Given the description of an element on the screen output the (x, y) to click on. 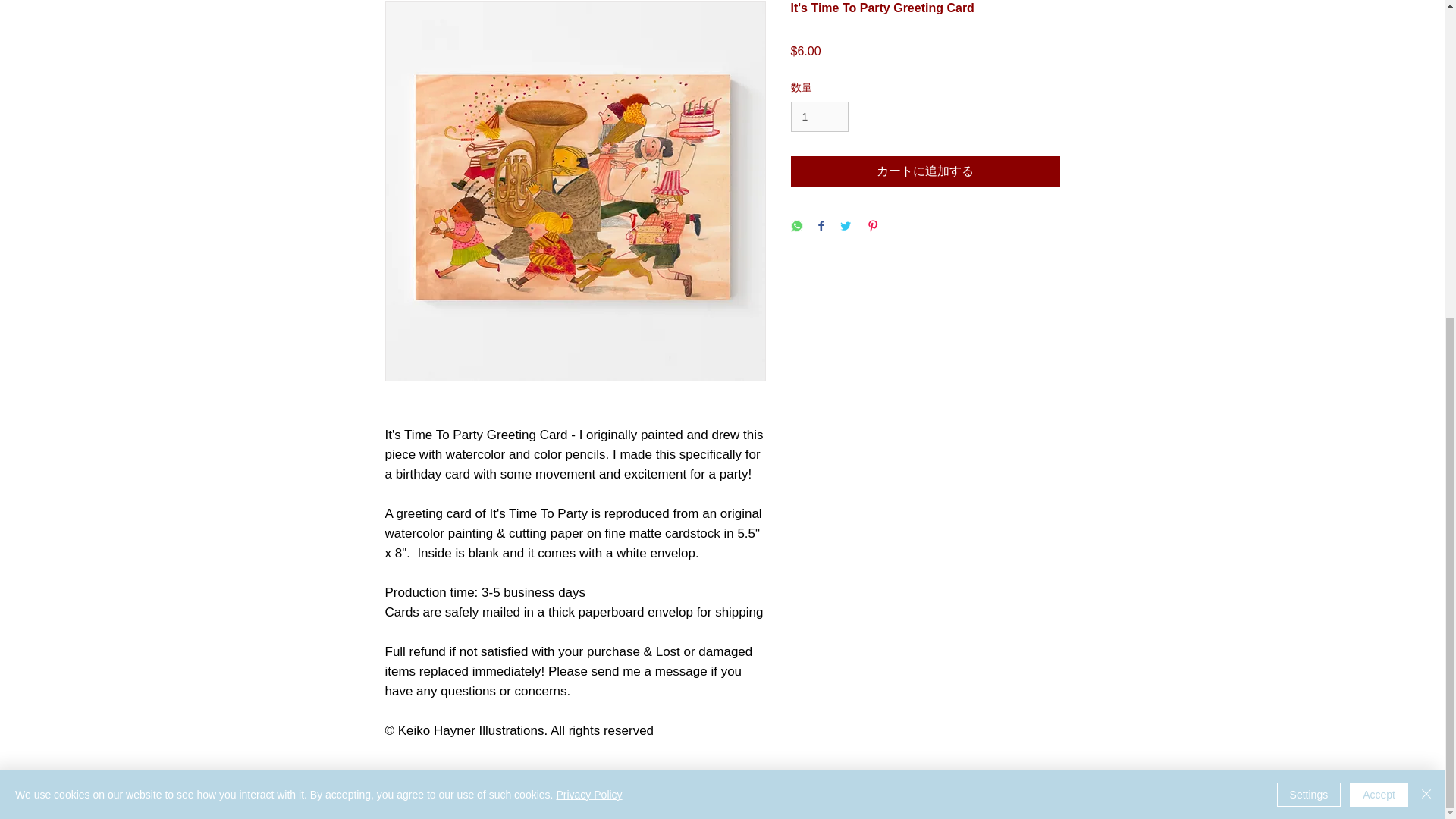
Accept (1378, 281)
Settings (1308, 281)
Privacy Policy (588, 281)
1 (818, 116)
